Given the description of an element on the screen output the (x, y) to click on. 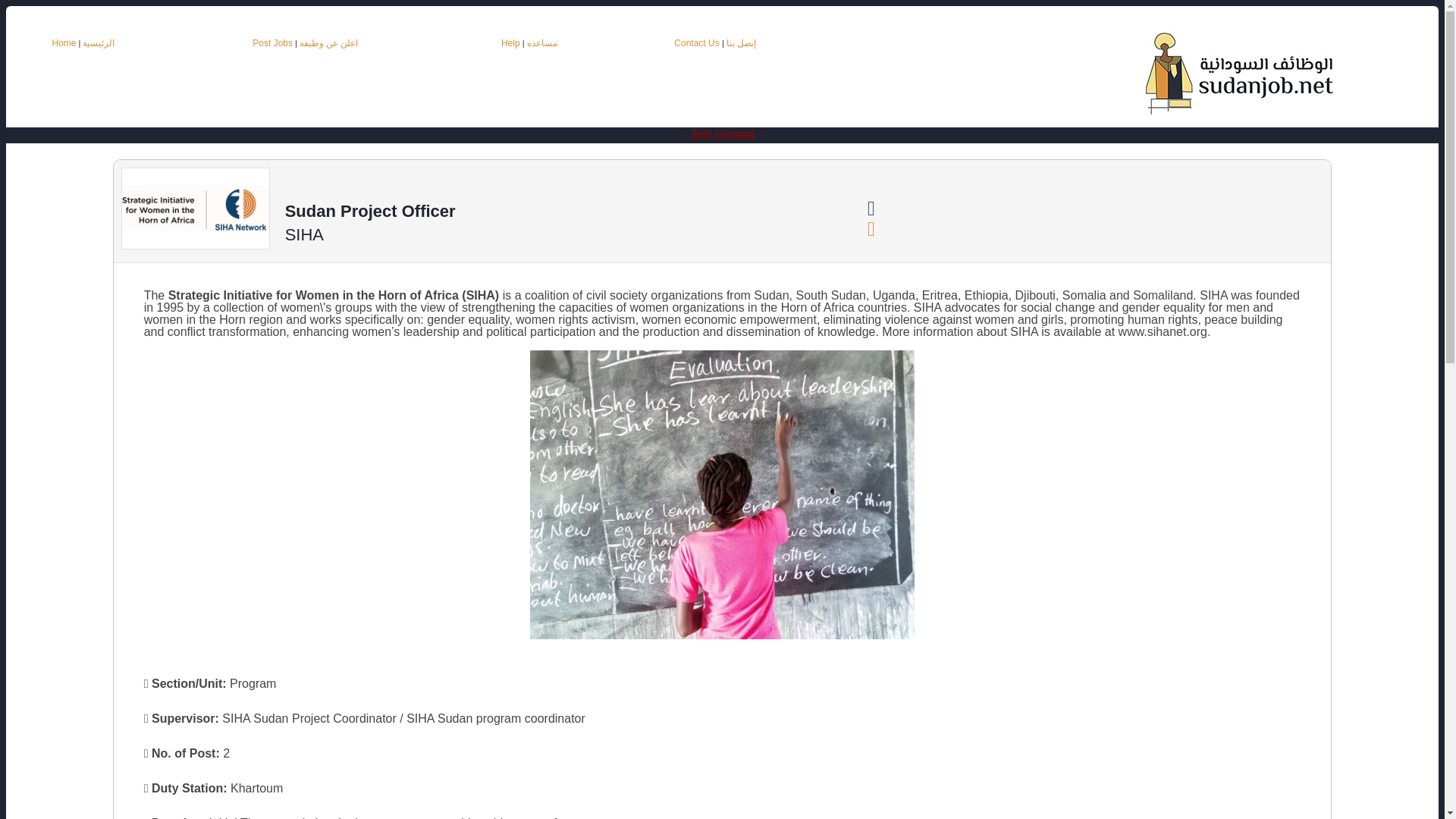
Contact Us (698, 42)
Post Jobs (271, 42)
Help (509, 42)
Home (62, 42)
